Given the description of an element on the screen output the (x, y) to click on. 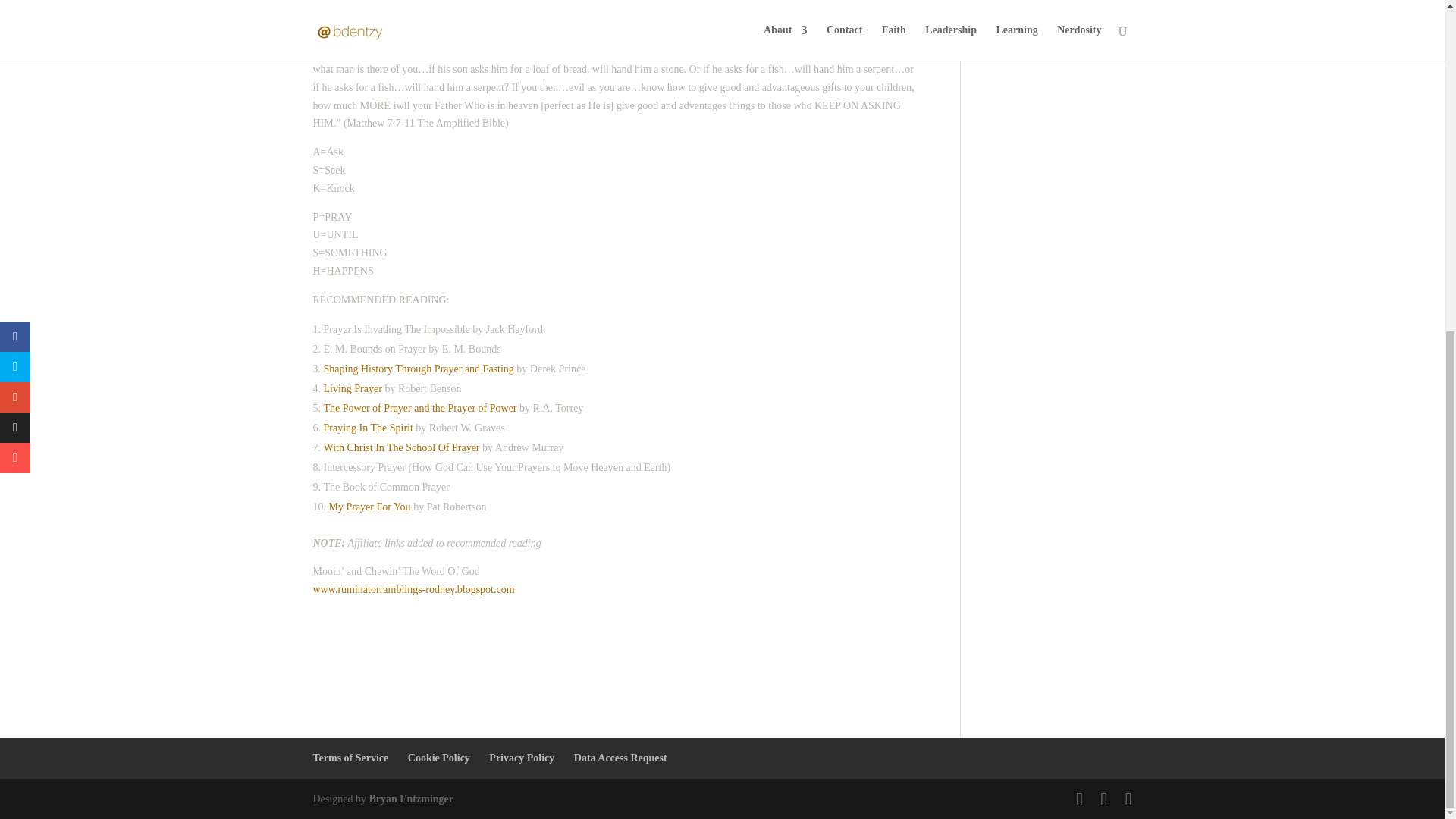
Shaping History Through Prayer and Fasting (418, 368)
Shaping History Through Prayer and Fasting (418, 368)
My Prayer For You (369, 506)
Living Prayer (352, 388)
The Power of Prayer and the Prayer of Power (419, 408)
Praying In The Spirit (367, 428)
Privacy Policy (521, 757)
With Christ In The School Of Prayer (401, 447)
www.ruminatorramblings-rodney.blogspot.com (413, 589)
Bryan Entzminger (410, 798)
The Power of Prayer and the Prayer of Power (419, 408)
Praying in the Spirit (367, 428)
Cookie Policy (438, 757)
Terms of Service (350, 757)
Living Prayer (352, 388)
